Given the description of an element on the screen output the (x, y) to click on. 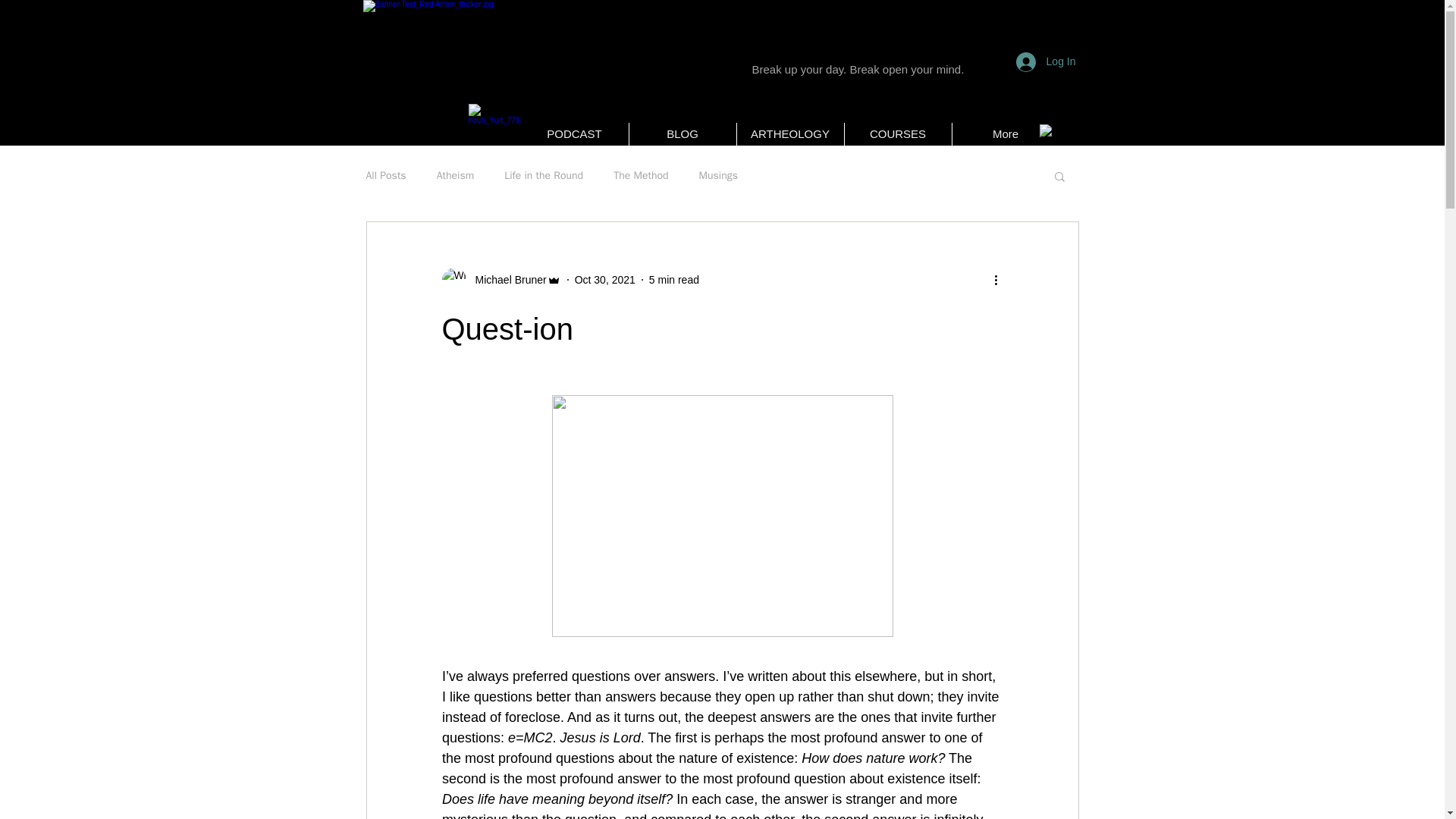
Life in the Round (543, 175)
Musings (718, 175)
The Method (640, 175)
PODCAST (573, 133)
ARTHEOLOGY (790, 133)
All Posts (385, 175)
5 min read (673, 278)
Michael Bruner (500, 279)
BLOG (682, 133)
Atheism (455, 175)
